Given the description of an element on the screen output the (x, y) to click on. 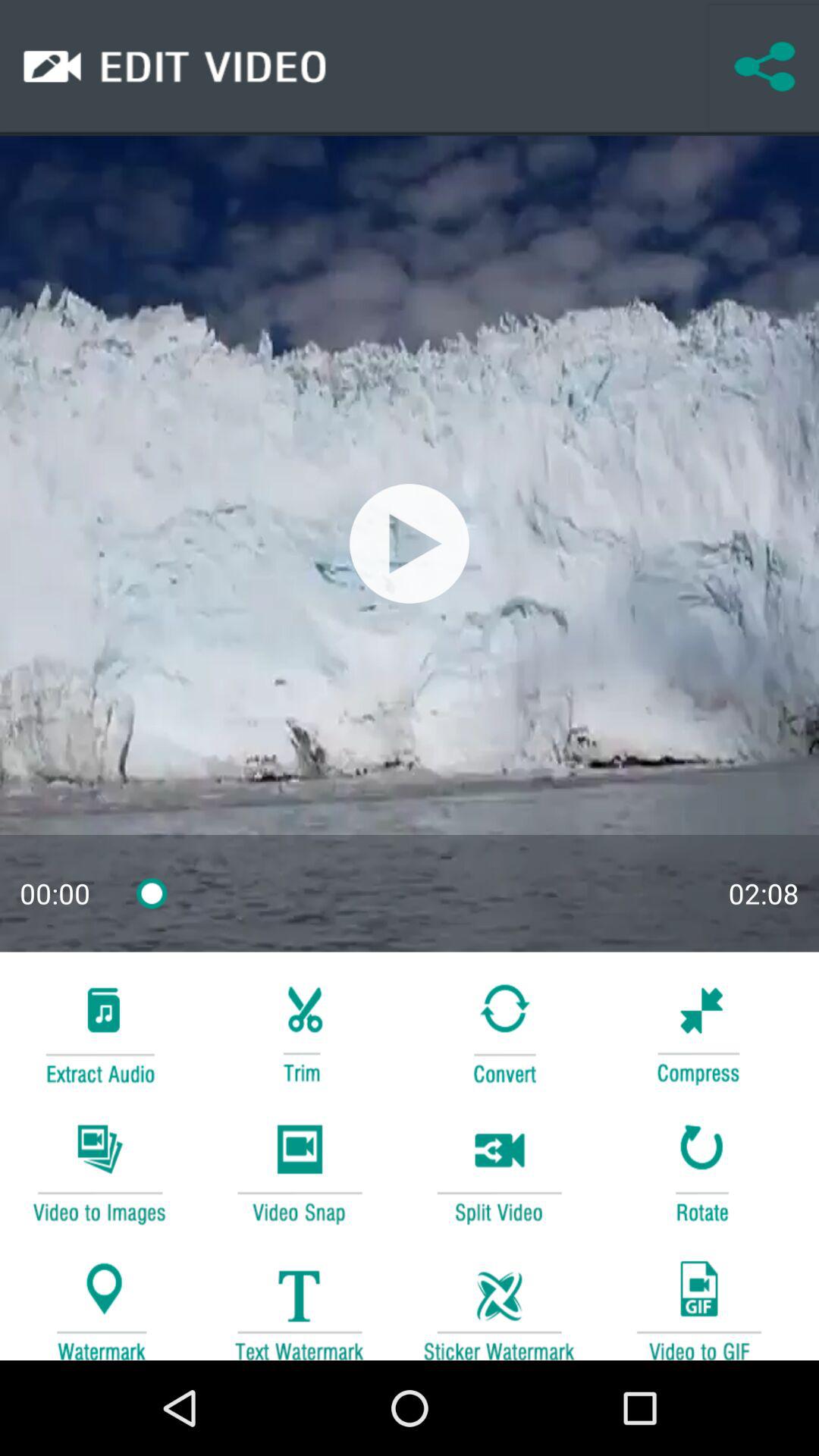
play the video (409, 543)
